Given the description of an element on the screen output the (x, y) to click on. 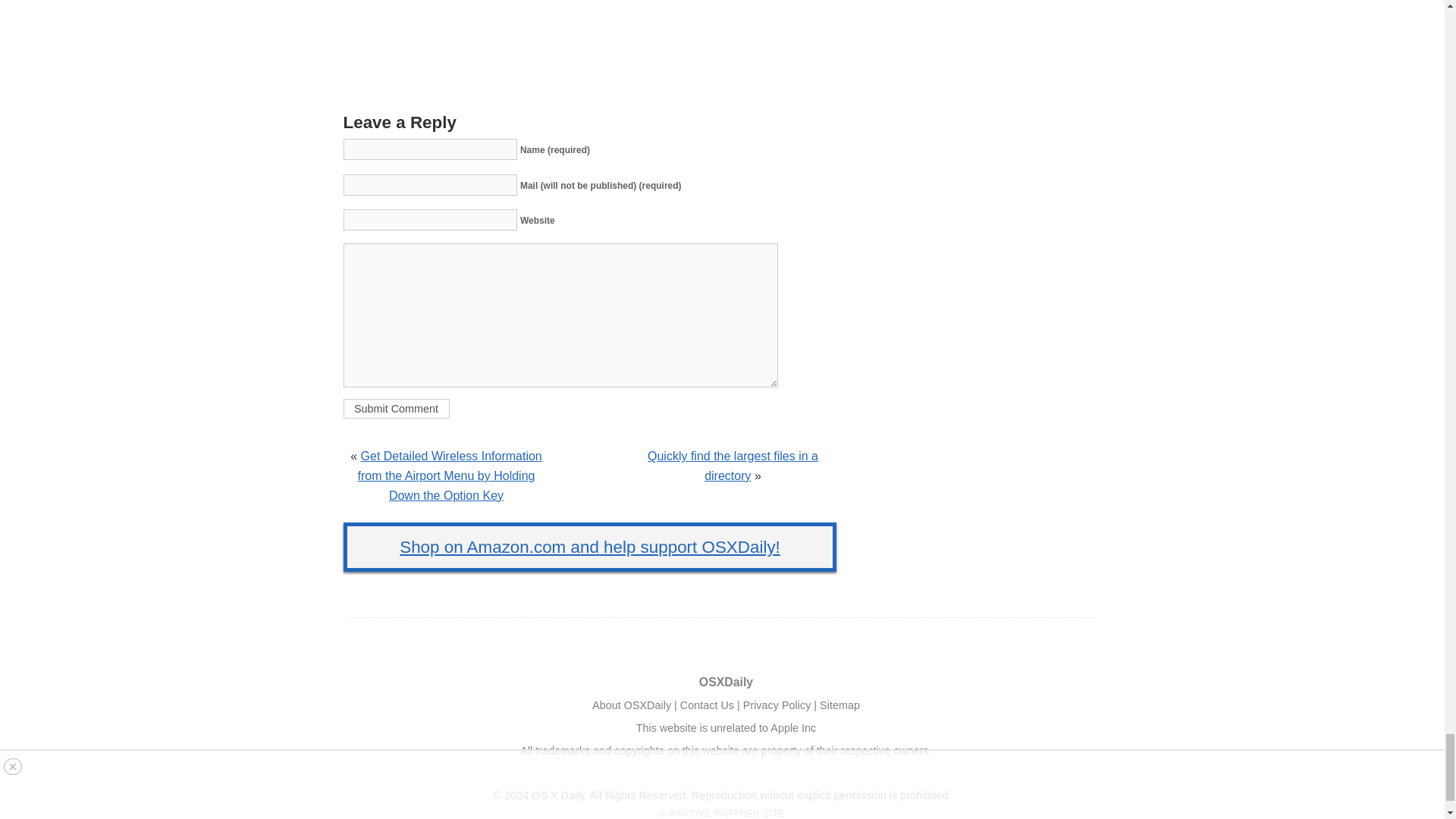
Submit Comment (395, 408)
